Given the description of an element on the screen output the (x, y) to click on. 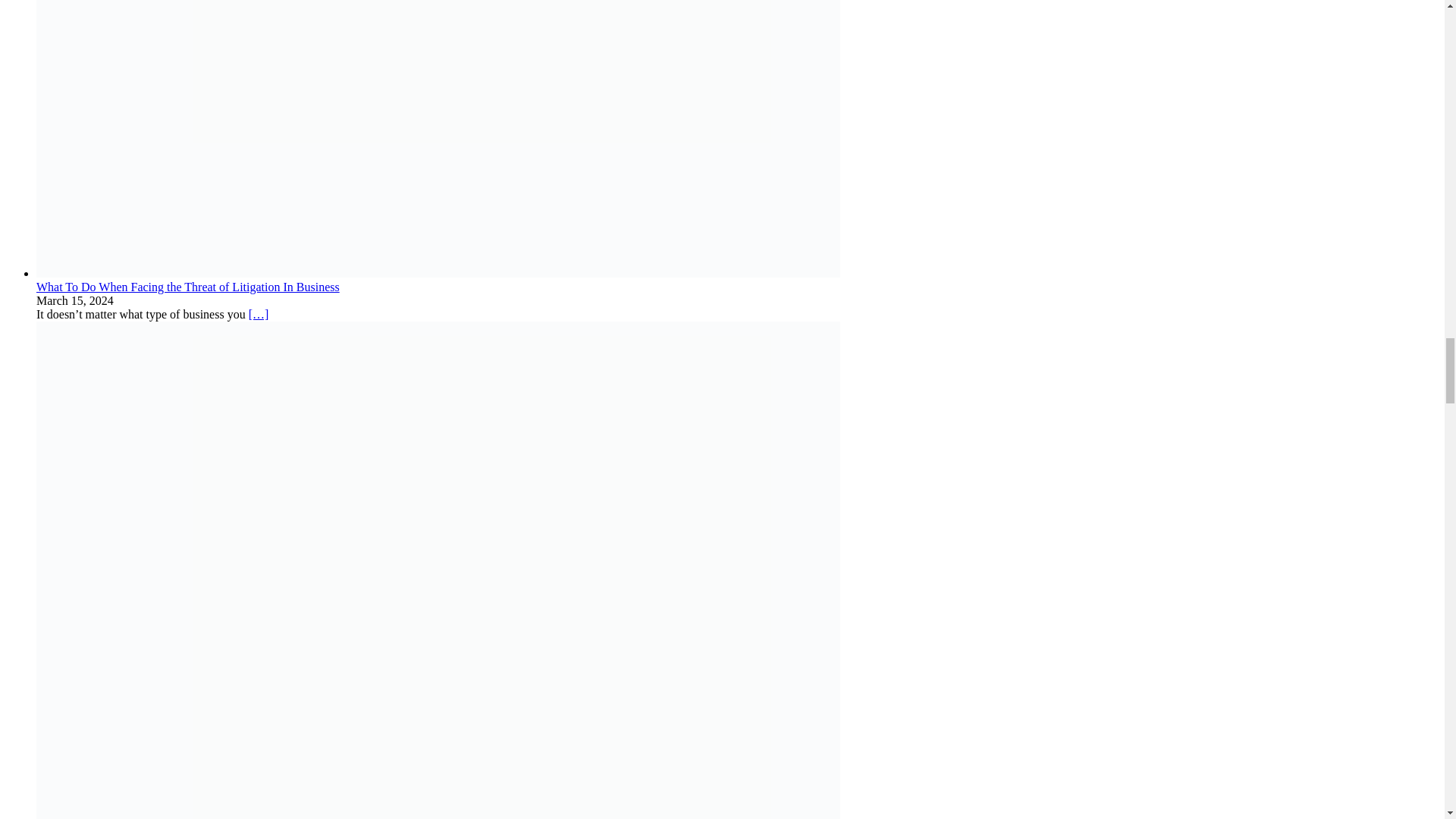
What To Do When Facing the Threat of Litigation In Business (438, 279)
